Given the description of an element on the screen output the (x, y) to click on. 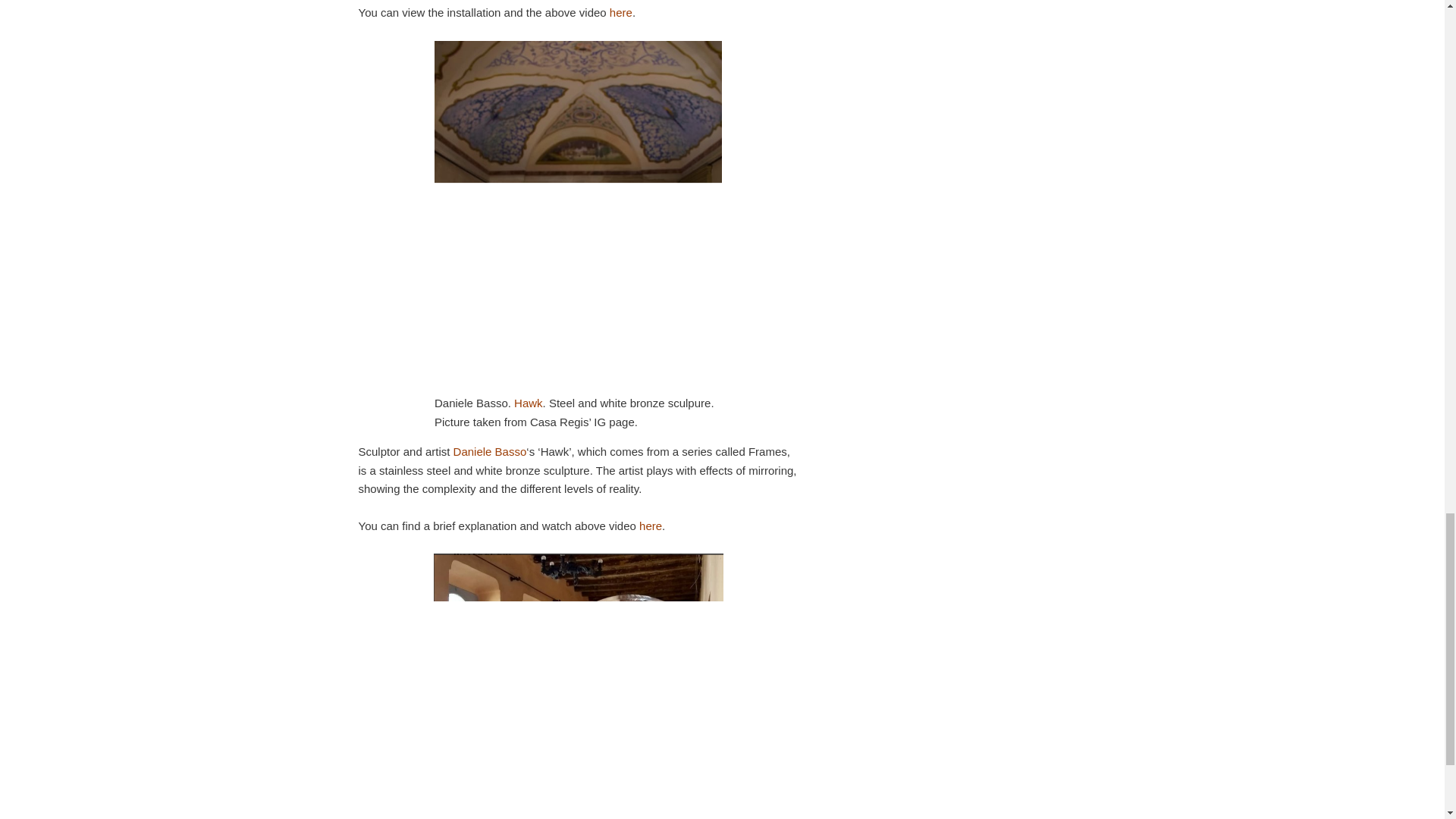
Daniele Basso (489, 451)
Hawk (528, 402)
here (650, 525)
here (620, 11)
